Given the description of an element on the screen output the (x, y) to click on. 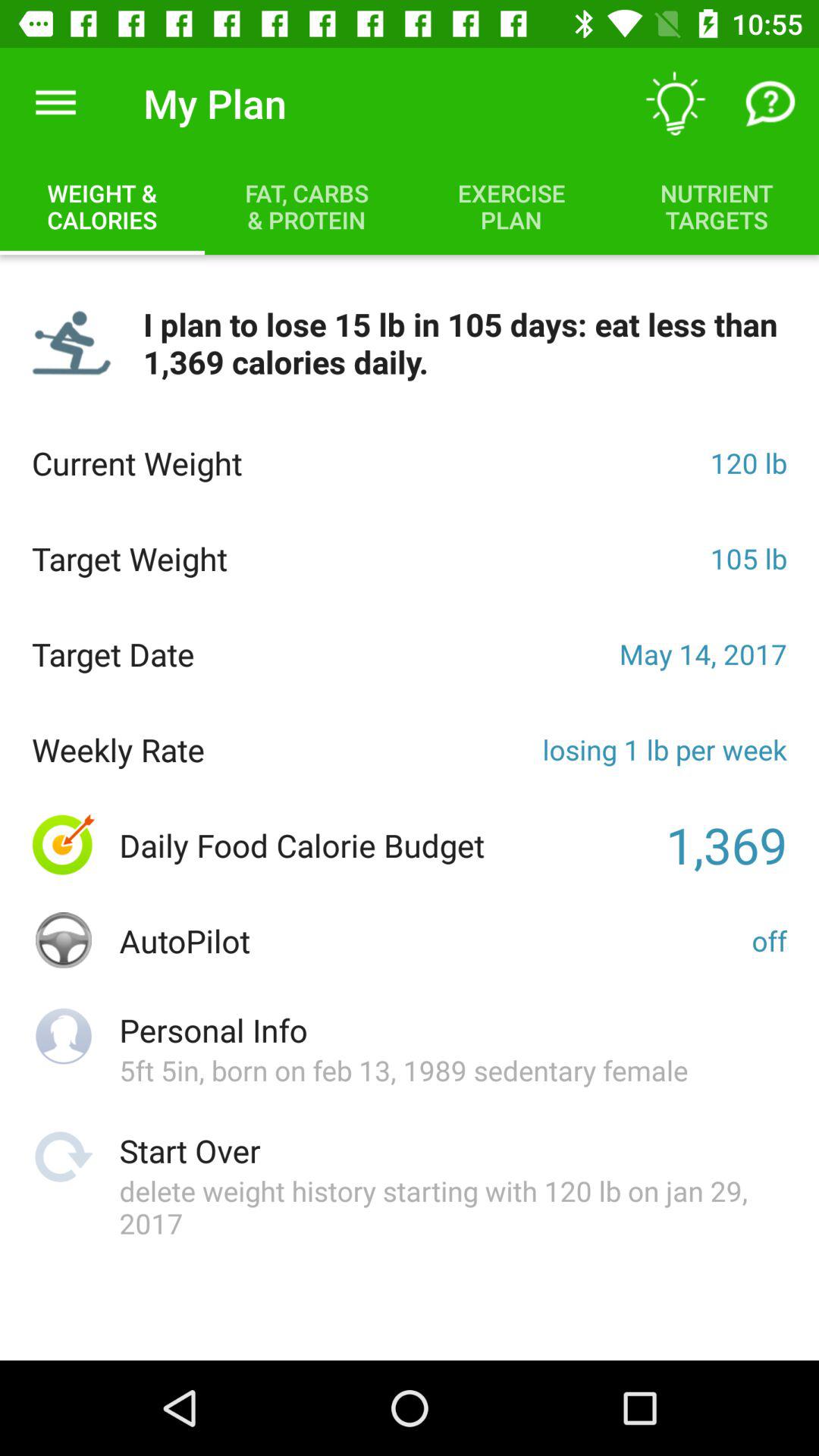
press item above nutrient
targets item (675, 103)
